Given the description of an element on the screen output the (x, y) to click on. 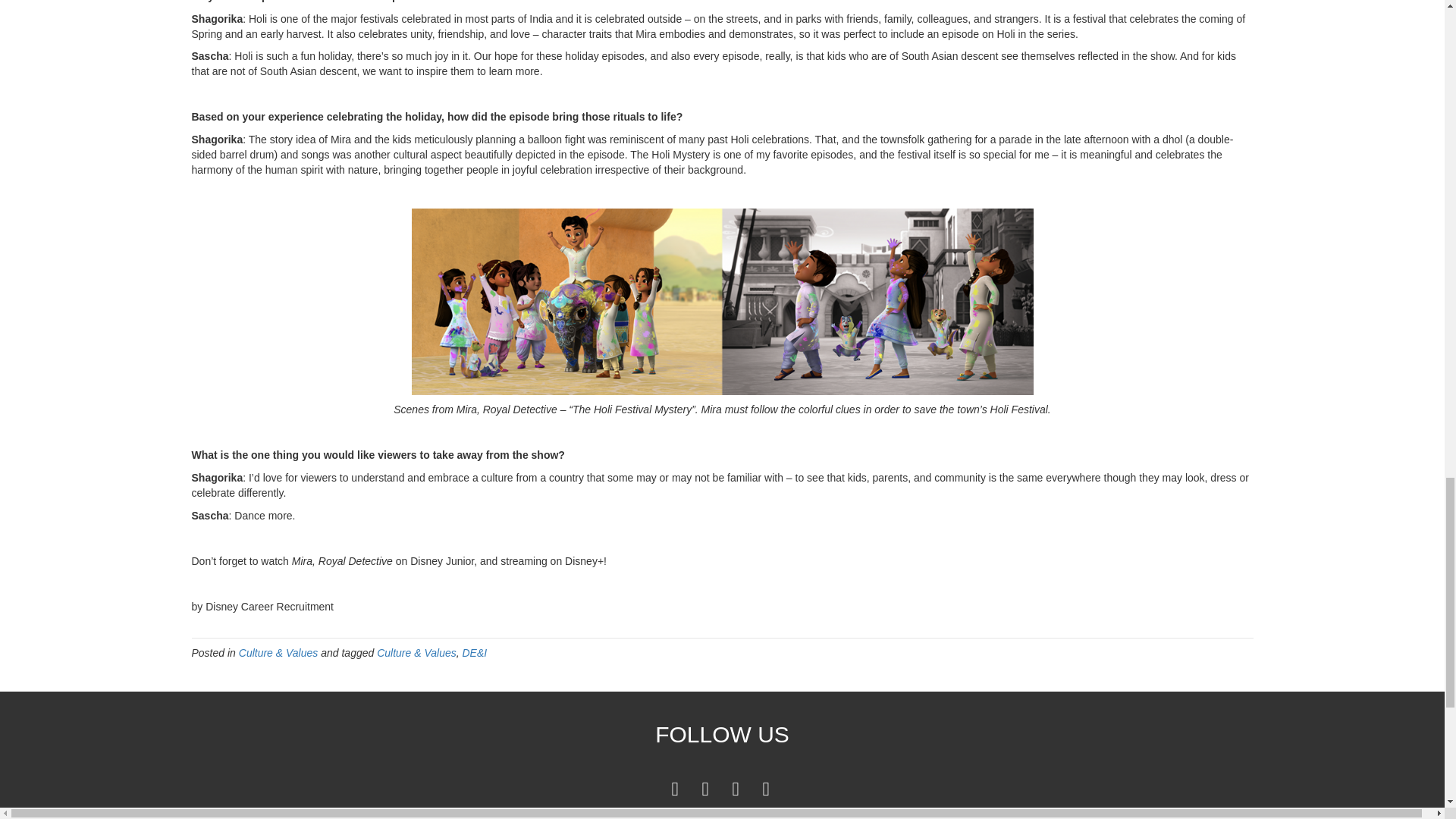
LinkedIn (705, 788)
Facebook (674, 788)
Instagram (765, 788)
YouTube (735, 788)
